Given the description of an element on the screen output the (x, y) to click on. 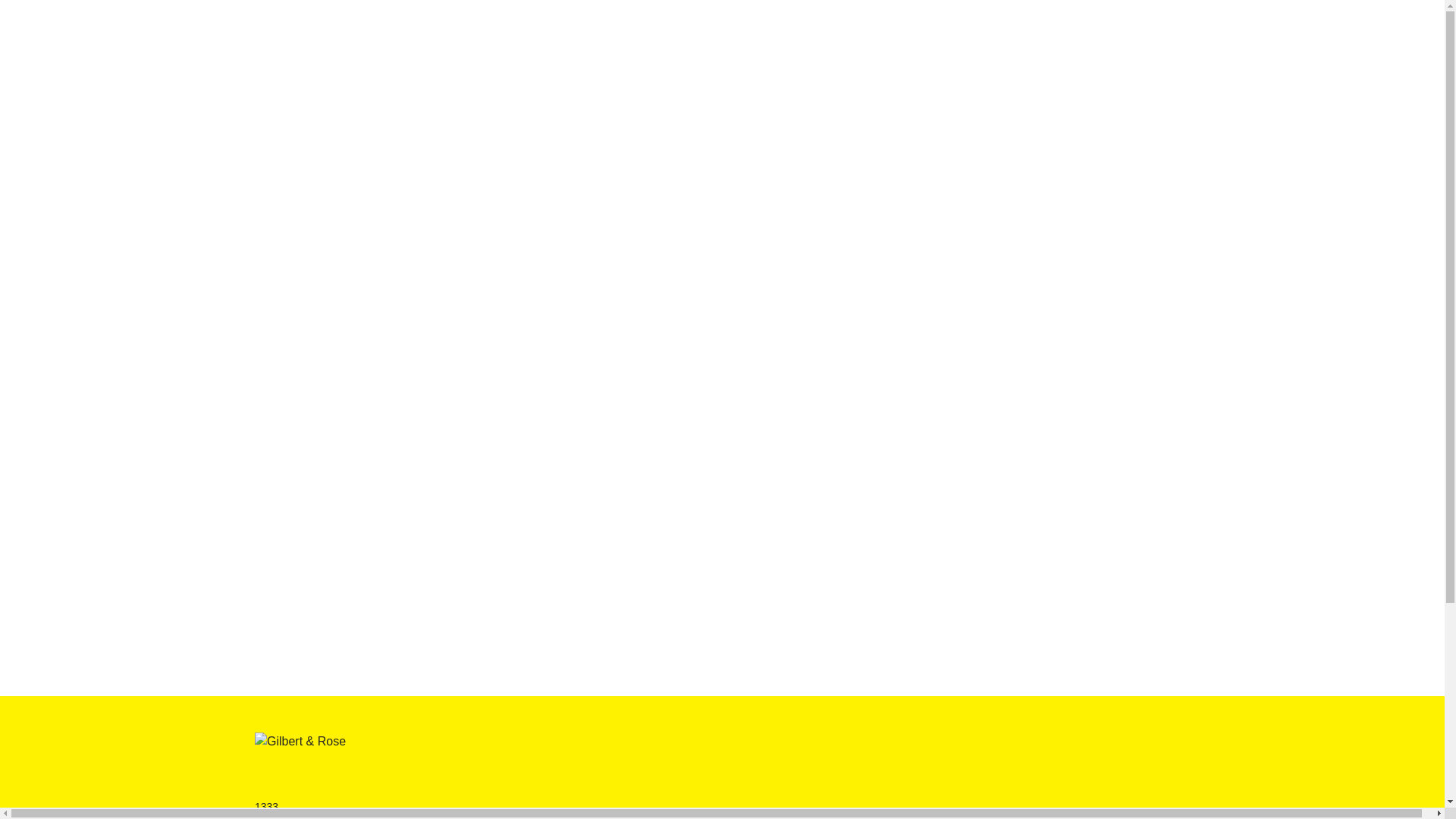
View Homepage (300, 756)
